Given the description of an element on the screen output the (x, y) to click on. 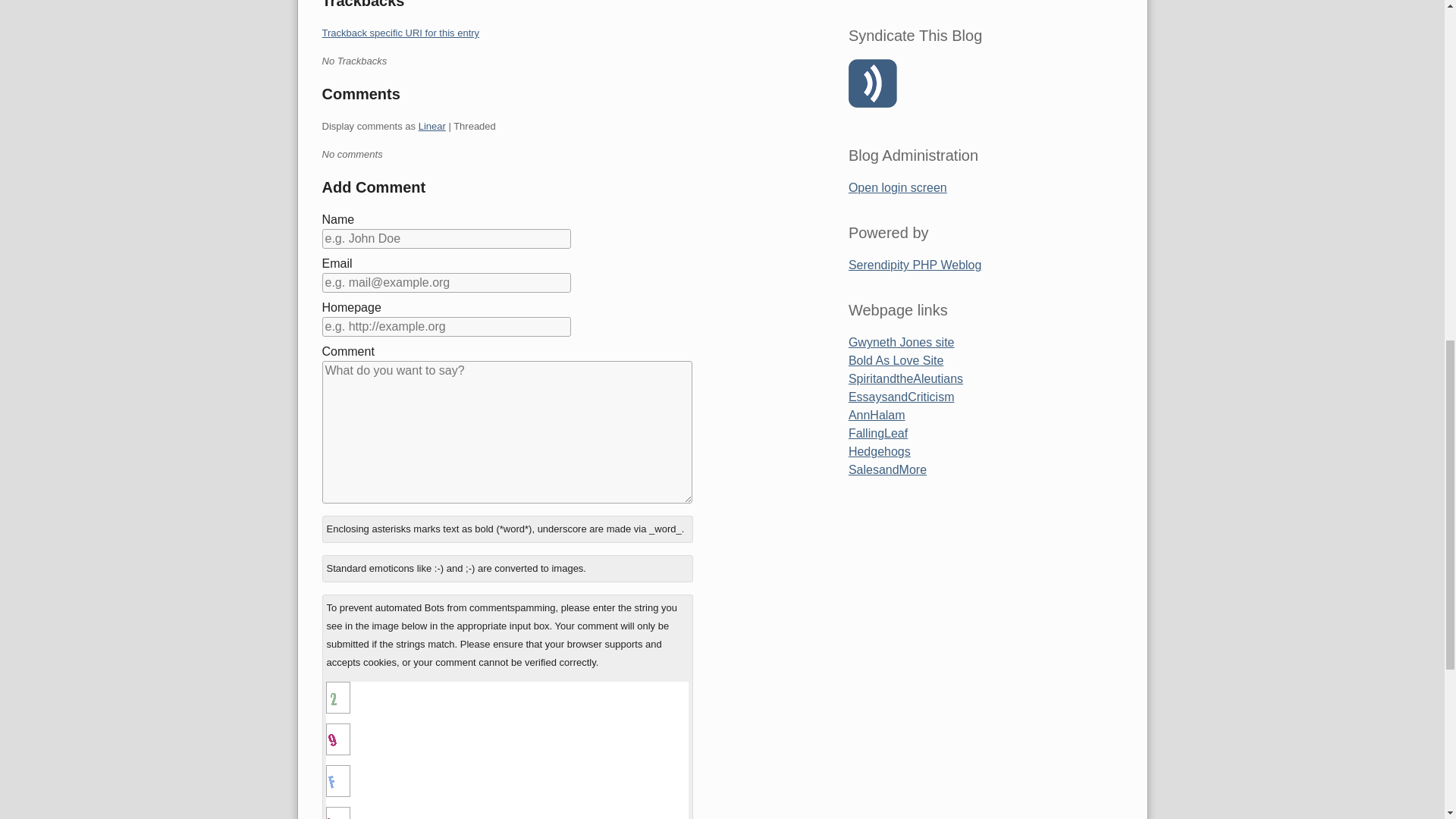
Gwyneth Jones site (901, 341)
Open login screen (897, 187)
Linear (432, 125)
Enter the string you see here in the input box! (338, 812)
Serendipity PHP Weblog (914, 264)
EssaysandCriticism (901, 396)
Bold As Love Site (895, 359)
Trackback specific URI for this entry (400, 32)
SpiritandtheAleutians (905, 378)
